Given the description of an element on the screen output the (x, y) to click on. 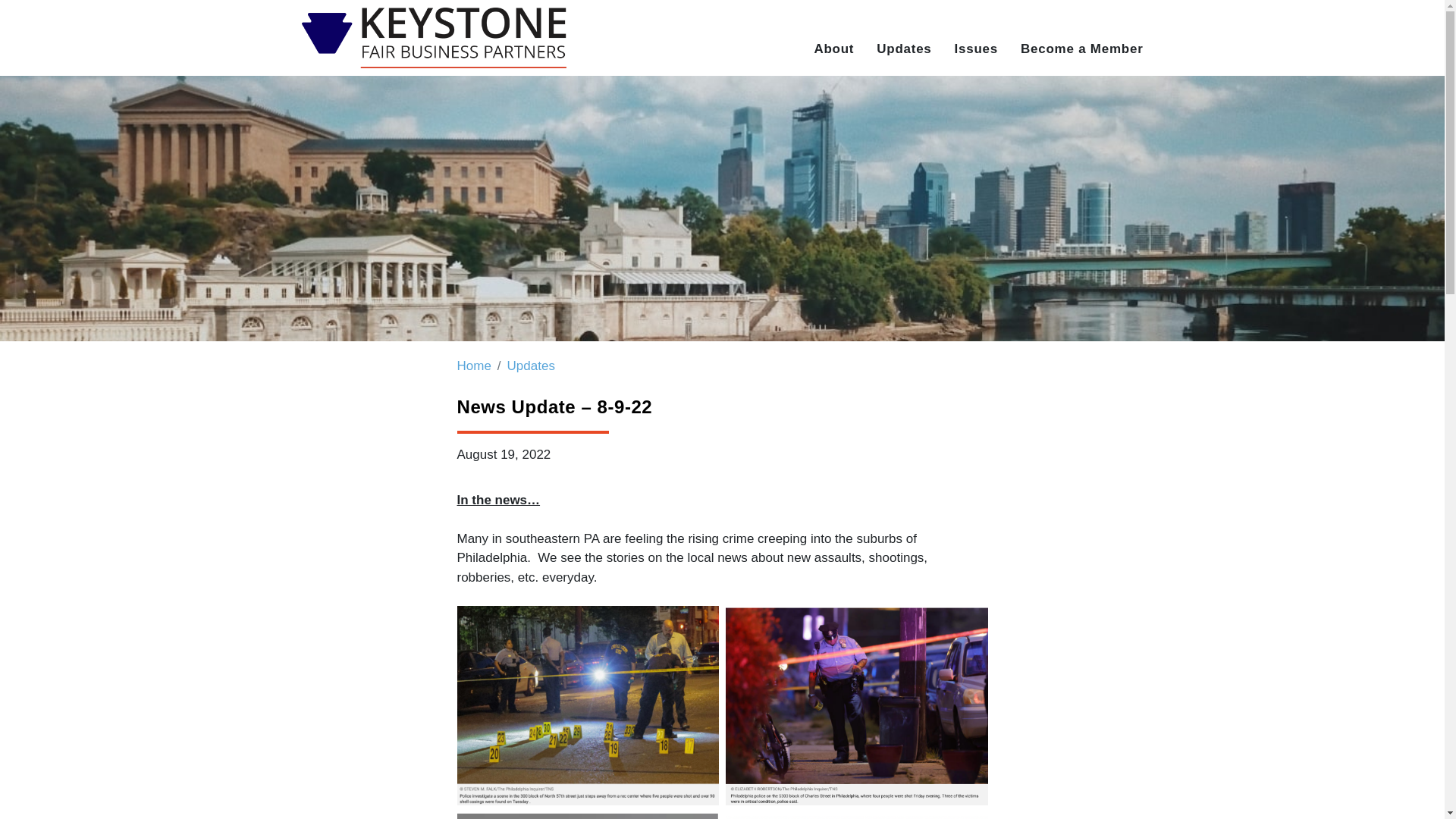
Become a Member (1081, 48)
Updates (903, 48)
Issues (976, 48)
Home (473, 365)
About (833, 48)
Updates (530, 365)
